Given the description of an element on the screen output the (x, y) to click on. 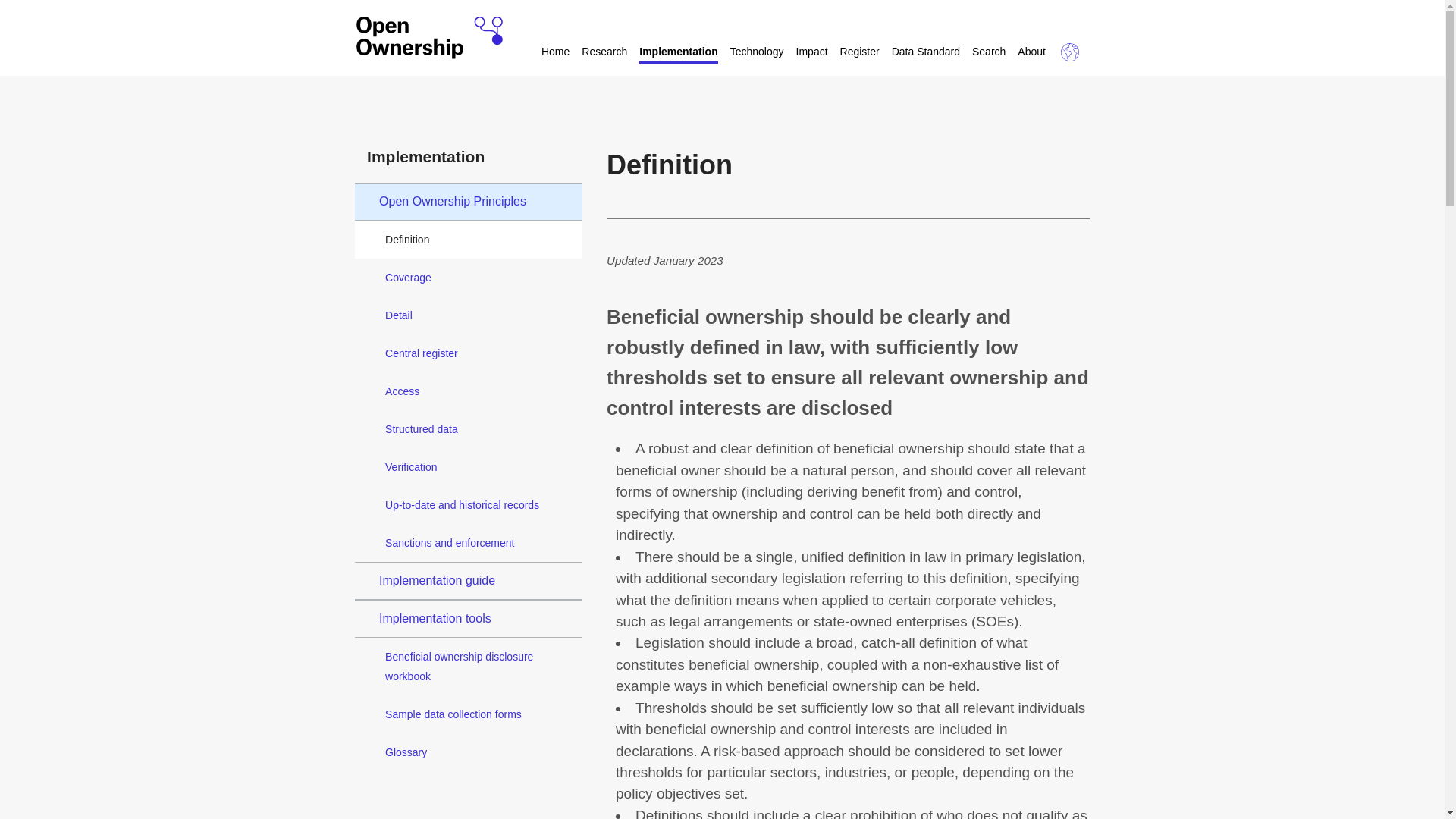
Implementation (678, 52)
Research (603, 52)
Home (555, 52)
